Given the description of an element on the screen output the (x, y) to click on. 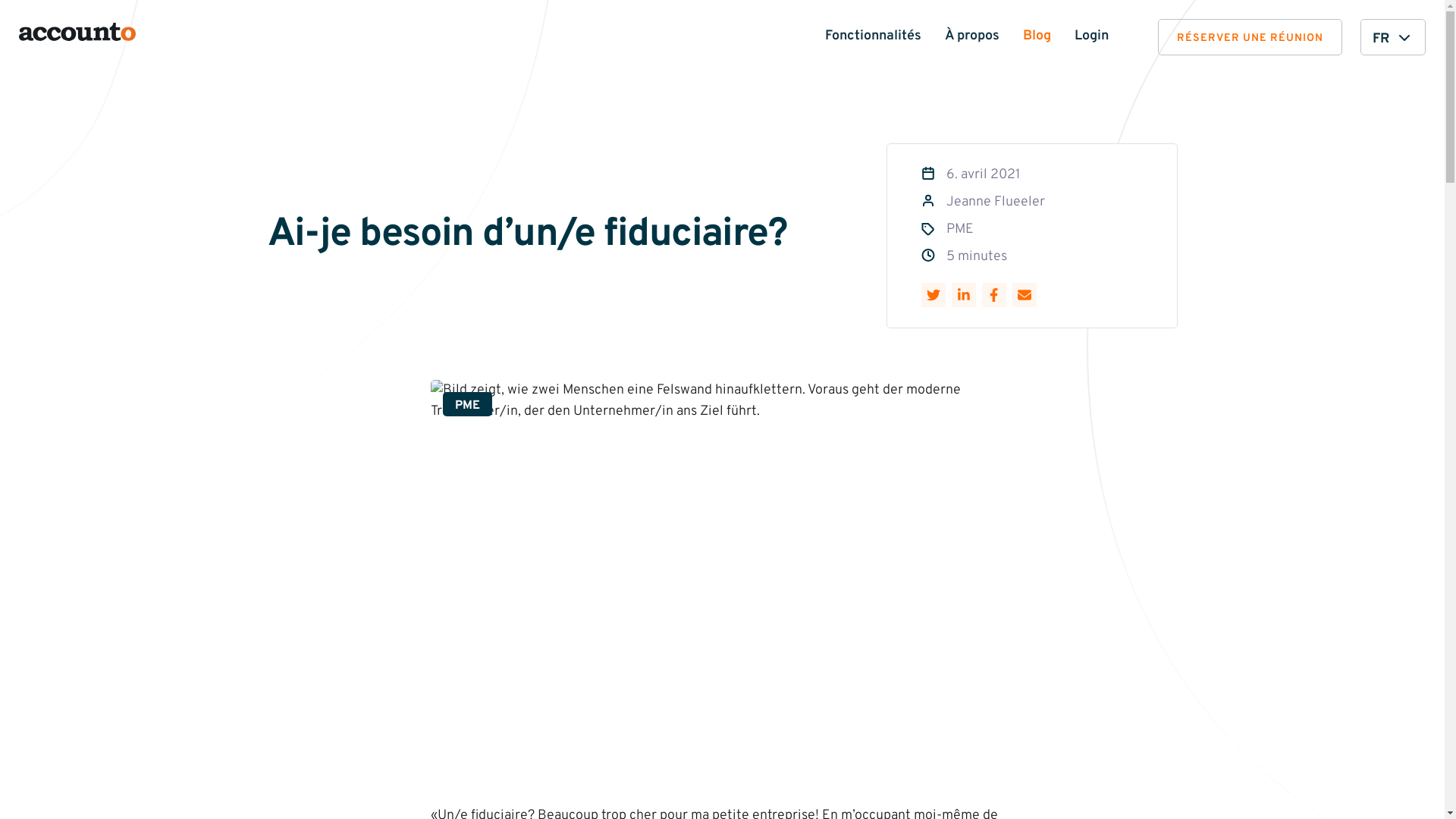
Login Element type: text (1091, 35)
Blog Element type: text (1036, 35)
